Given the description of an element on the screen output the (x, y) to click on. 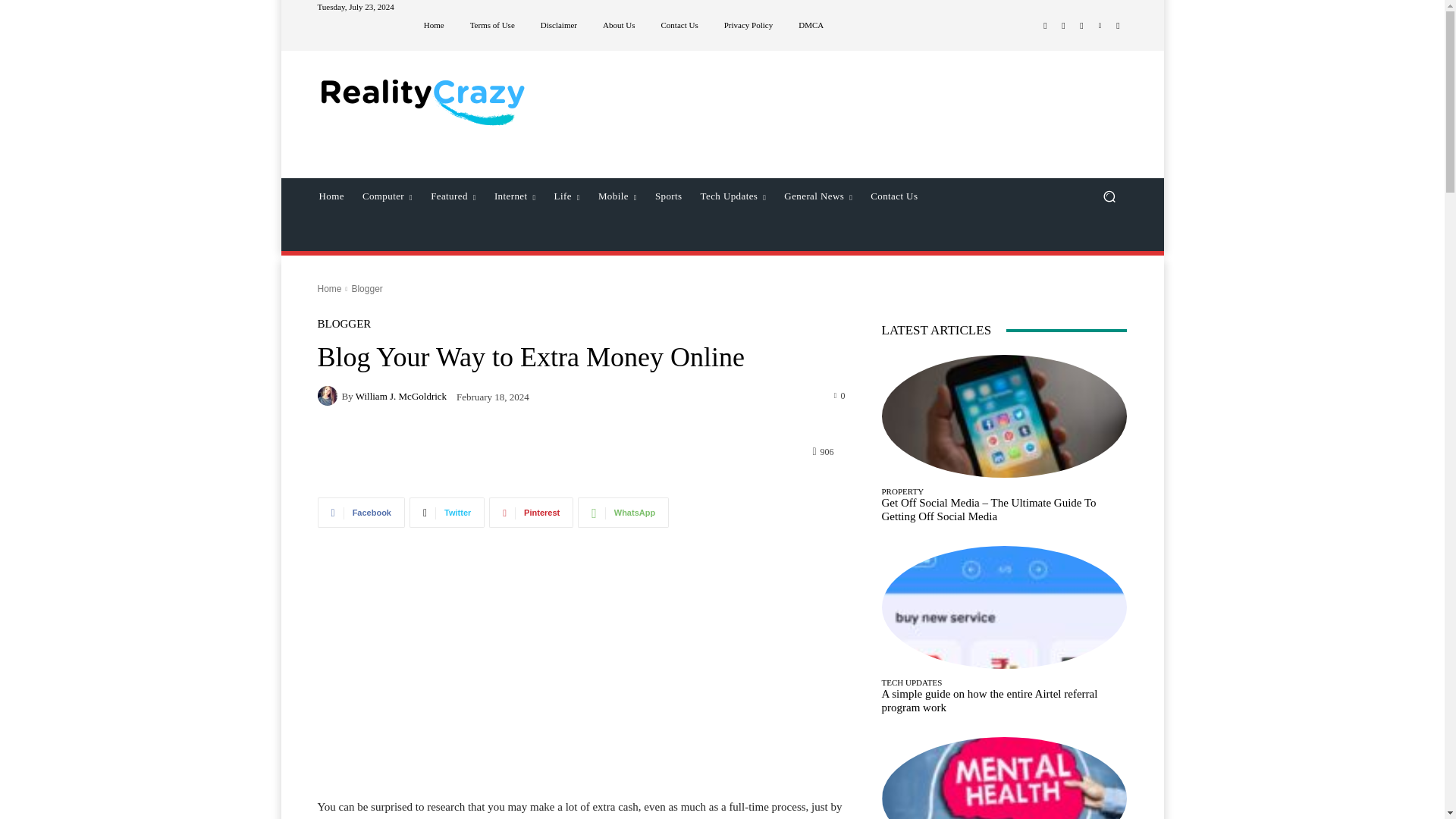
Twitter (1080, 25)
William J. McGoldrick (328, 395)
Facebook (1044, 25)
WhatsApp (623, 512)
Facebook (360, 512)
Instagram (1062, 25)
Vimeo (1099, 25)
Twitter (446, 512)
Youtube (1117, 25)
Pinterest (531, 512)
View all posts in Blogger (365, 288)
Advertisement (580, 683)
